Given the description of an element on the screen output the (x, y) to click on. 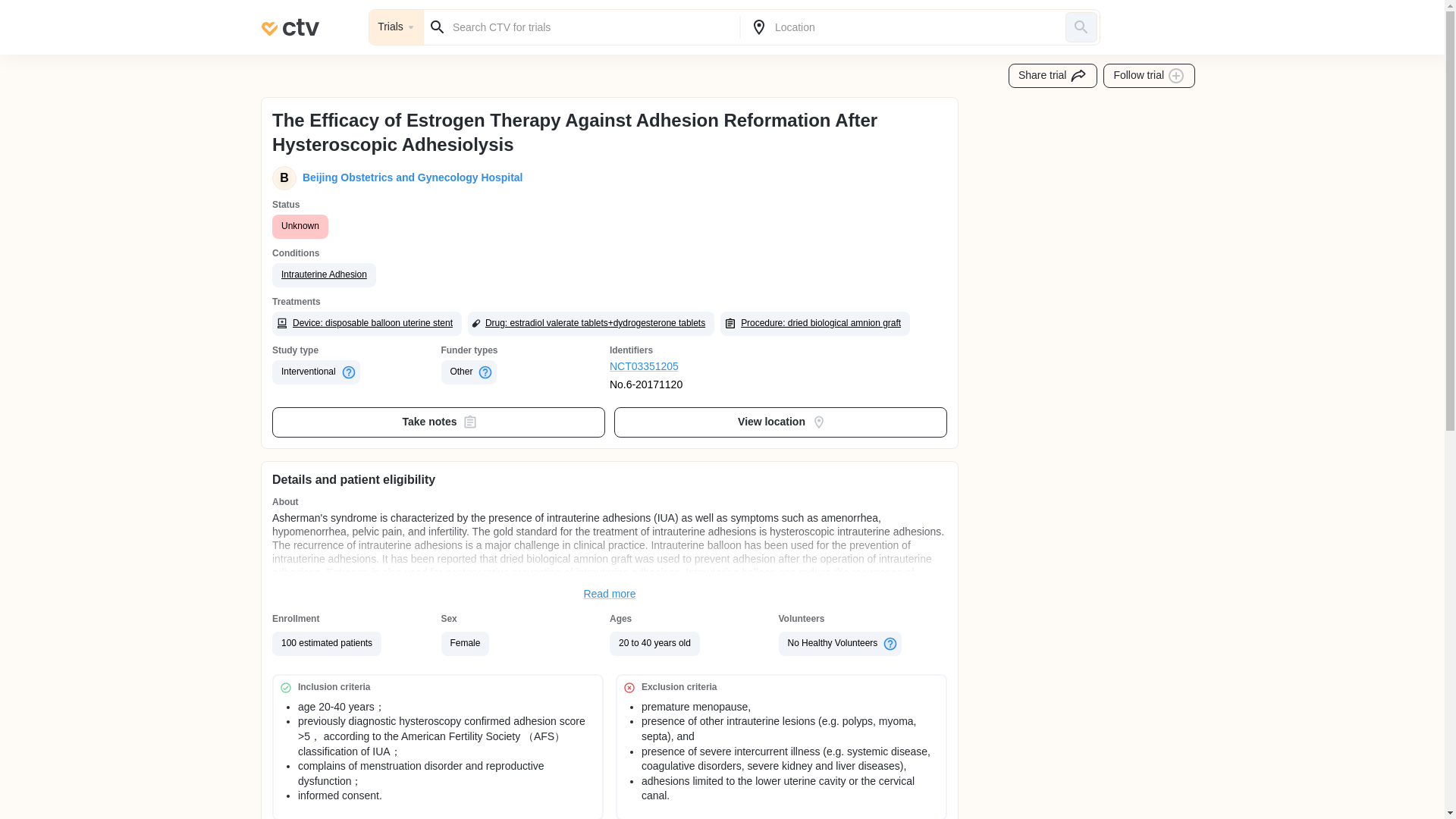
Take notes (438, 422)
Trials (396, 27)
View location (780, 422)
Follow trial (1149, 75)
Share trial (1053, 75)
NCT03351205 (694, 366)
Beijing Obstetrics and Gynecology Hospital (409, 178)
Read more (609, 594)
